Given the description of an element on the screen output the (x, y) to click on. 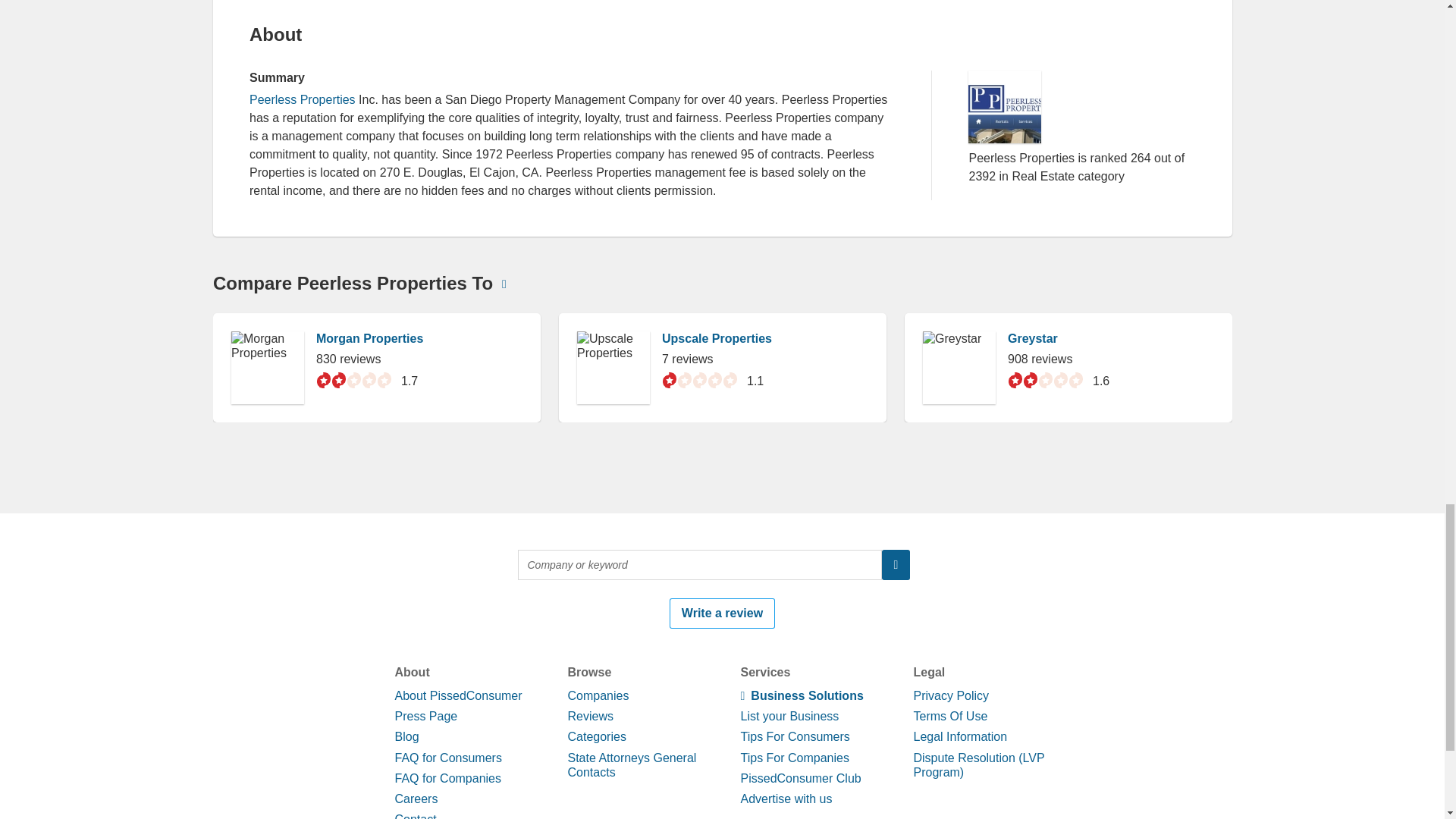
Contact PissedConsumer (440, 816)
Write a review (721, 613)
About PissedConsumer (457, 695)
FAQ for Companies (447, 778)
State Attorneys General Contacts (631, 764)
Privacy Policy (950, 695)
Advertise with us (785, 798)
Morgan Properties (368, 338)
FAQ for Consumers (447, 757)
Terms Of Use (949, 716)
